Given the description of an element on the screen output the (x, y) to click on. 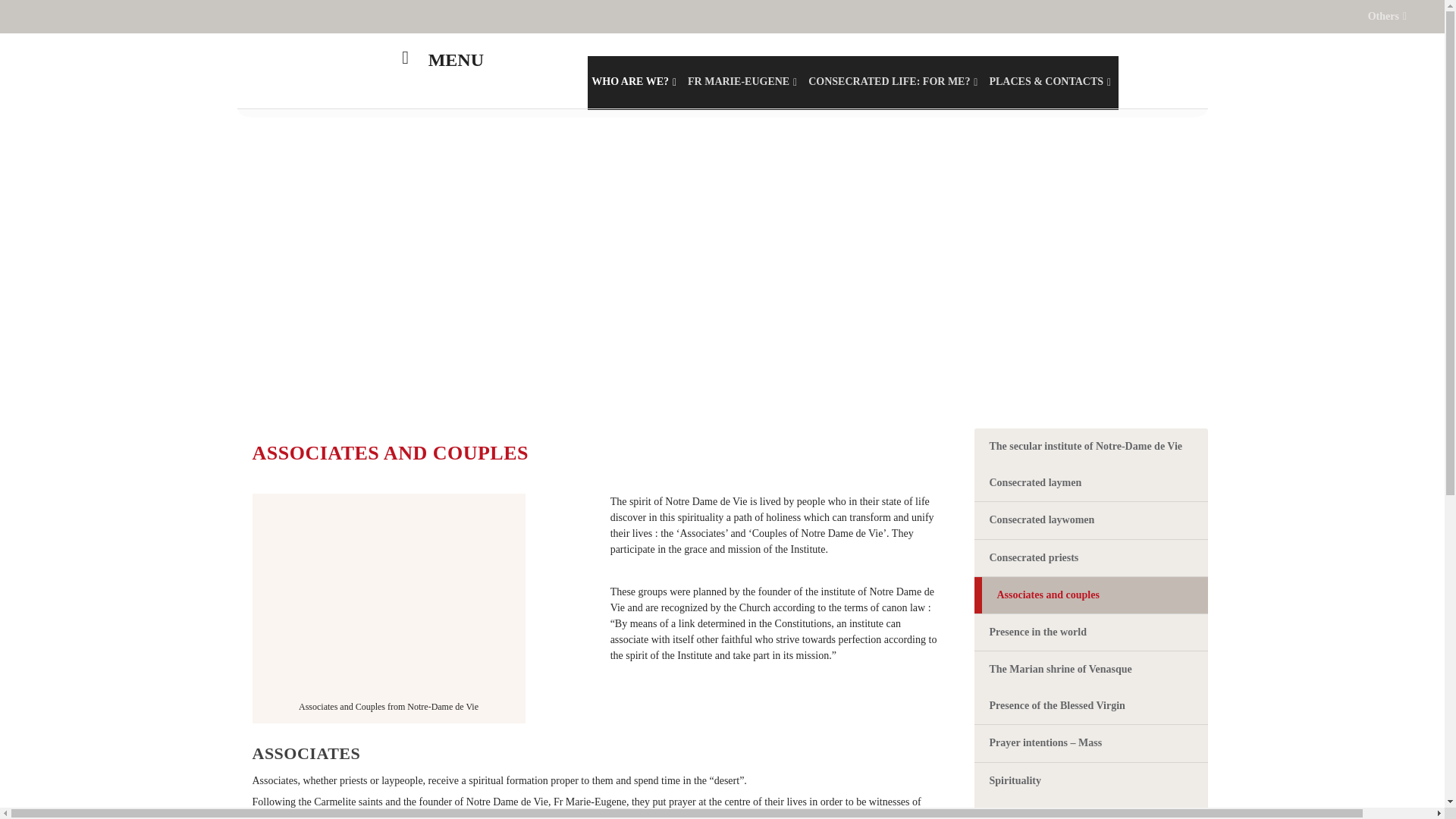
MENU (438, 71)
Others (1387, 16)
